Given the description of an element on the screen output the (x, y) to click on. 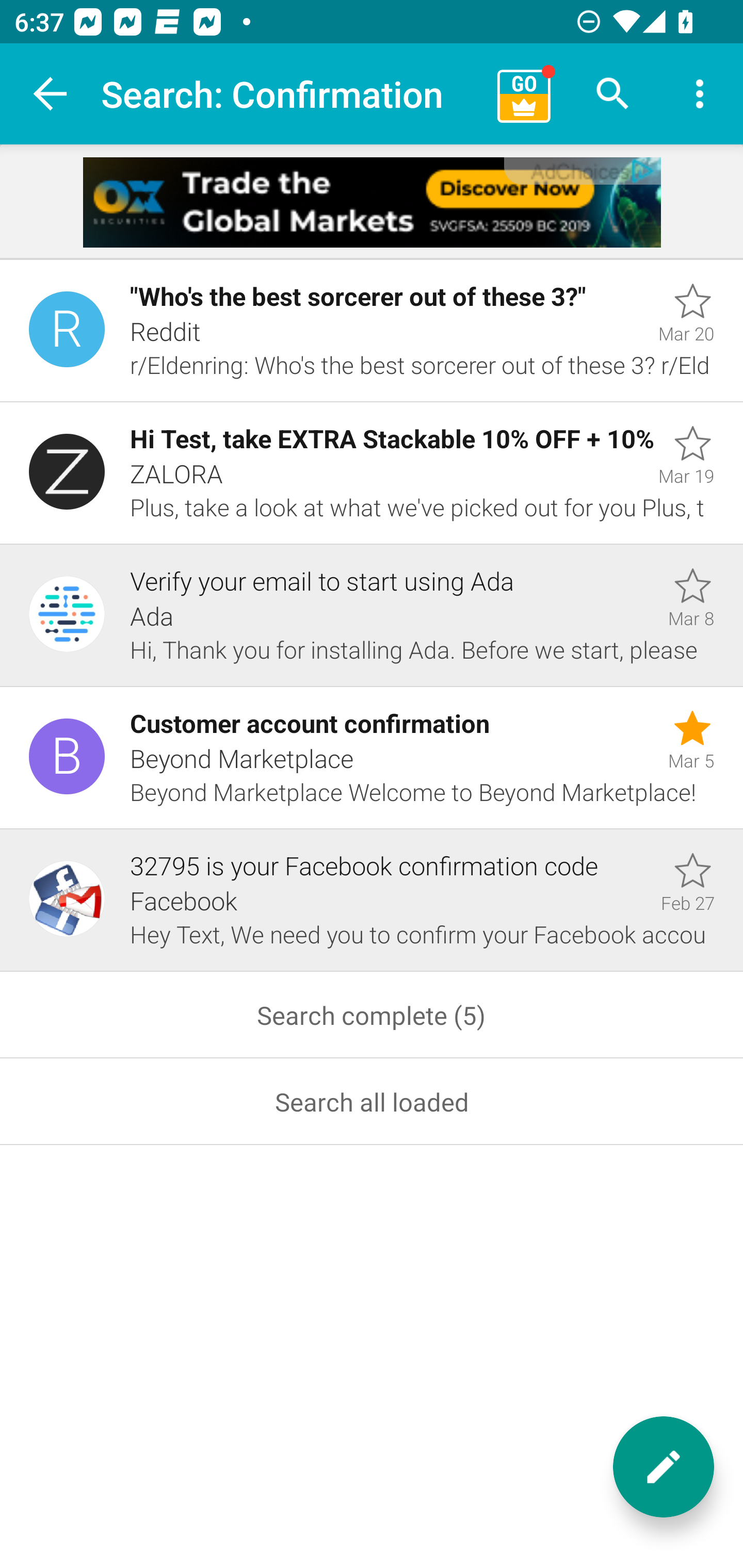
Navigate up (50, 93)
Search (612, 93)
More options (699, 93)
contextual ad-choices (581, 170)
Search complete (5) (371, 1015)
Search all loaded (371, 1101)
New message (663, 1466)
